Given the description of an element on the screen output the (x, y) to click on. 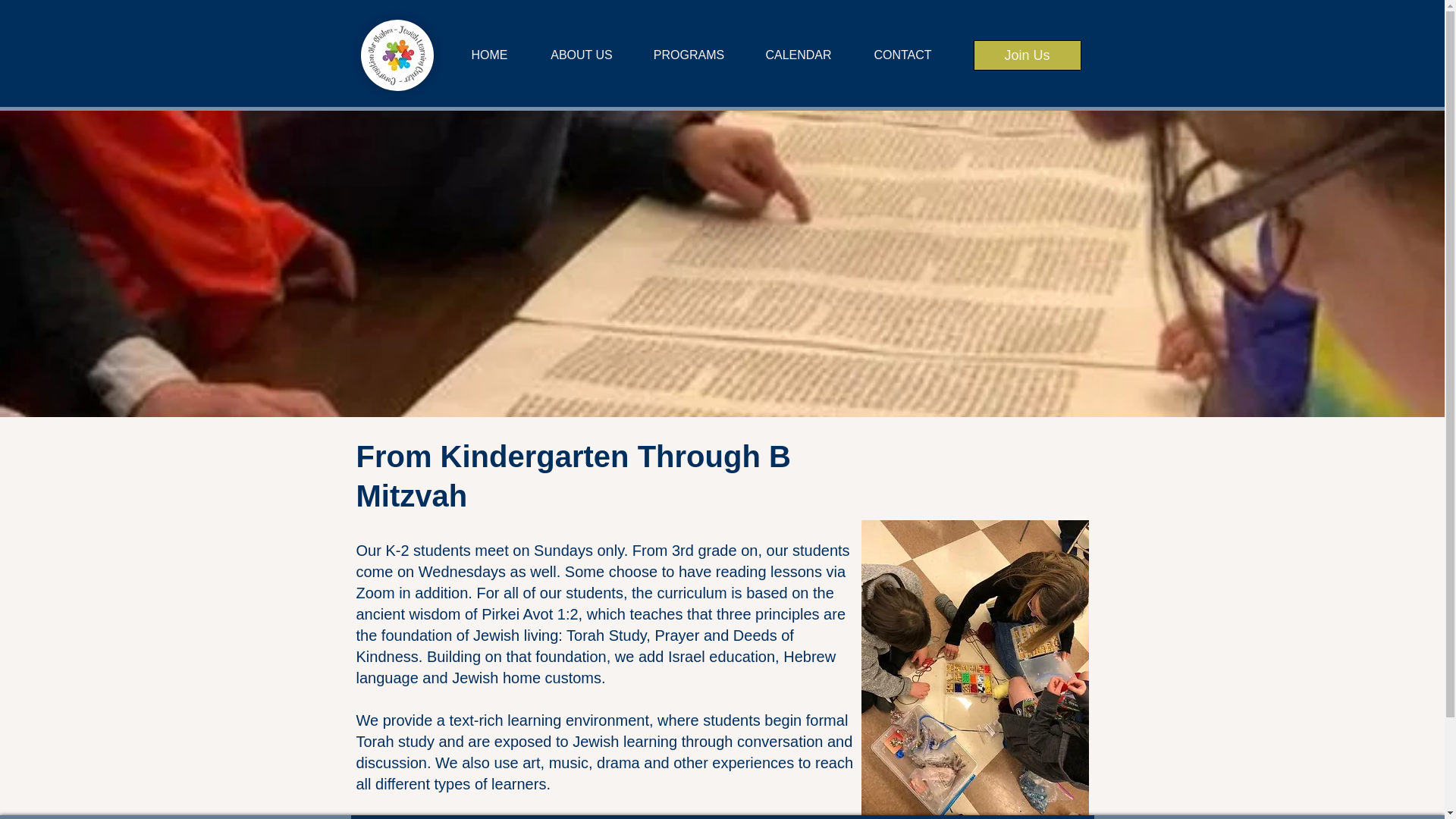
HOME (488, 54)
CONTACT (901, 54)
Join Us (1027, 55)
CALENDAR (798, 54)
